Given the description of an element on the screen output the (x, y) to click on. 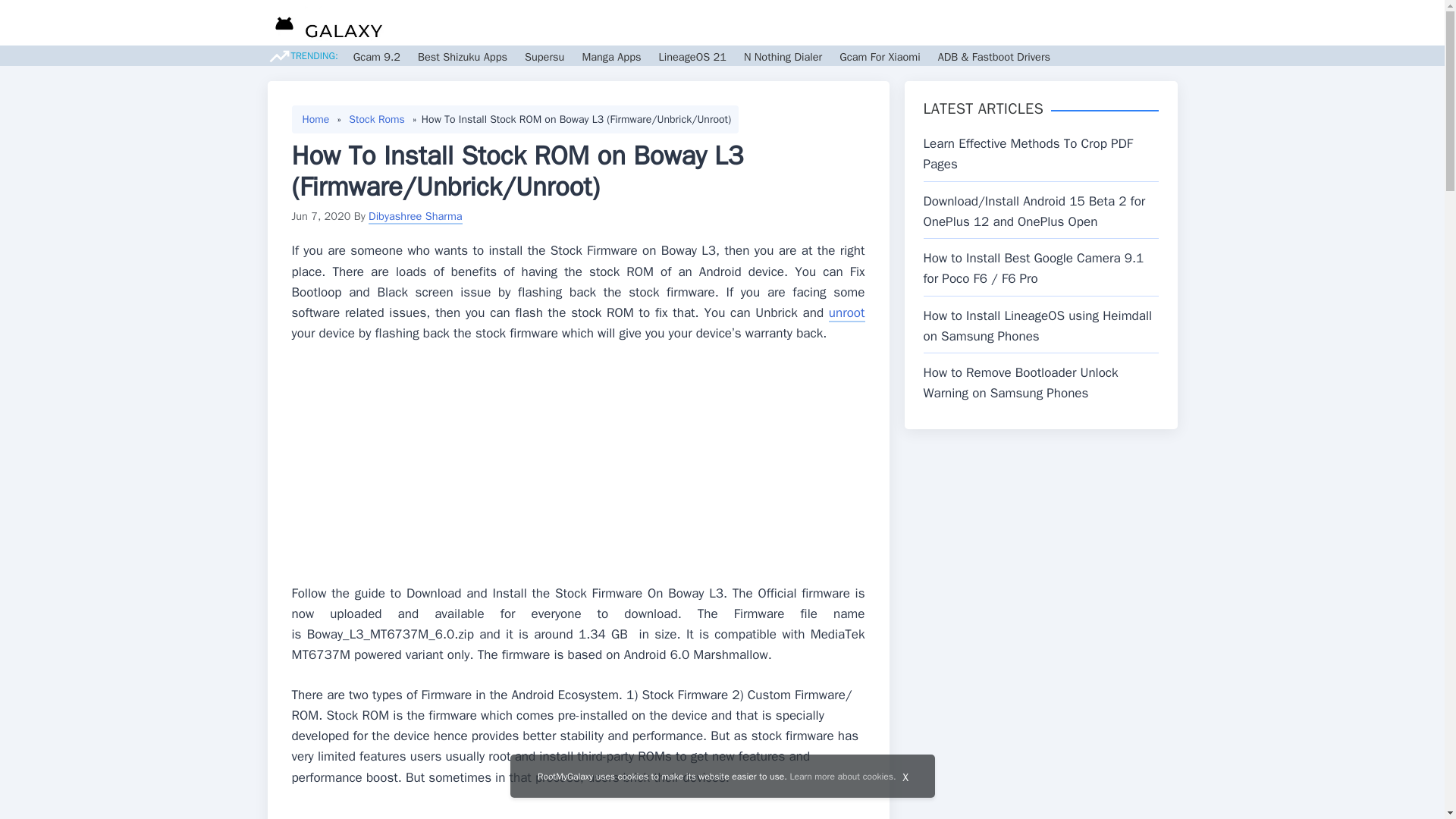
N Nothing Dialer (783, 56)
Gcam For Xiaomi (880, 56)
Rootmygalaxy (325, 25)
Wallpapers (900, 22)
LineageOS 21 (691, 56)
Home (314, 119)
Dibyashree Sharma (415, 215)
Advertisement (577, 469)
About Us (1101, 22)
Others (1021, 22)
Tools (962, 22)
Gcam 9.2 (376, 56)
Manga Apps (610, 56)
News (734, 22)
unroot (846, 313)
